Given the description of an element on the screen output the (x, y) to click on. 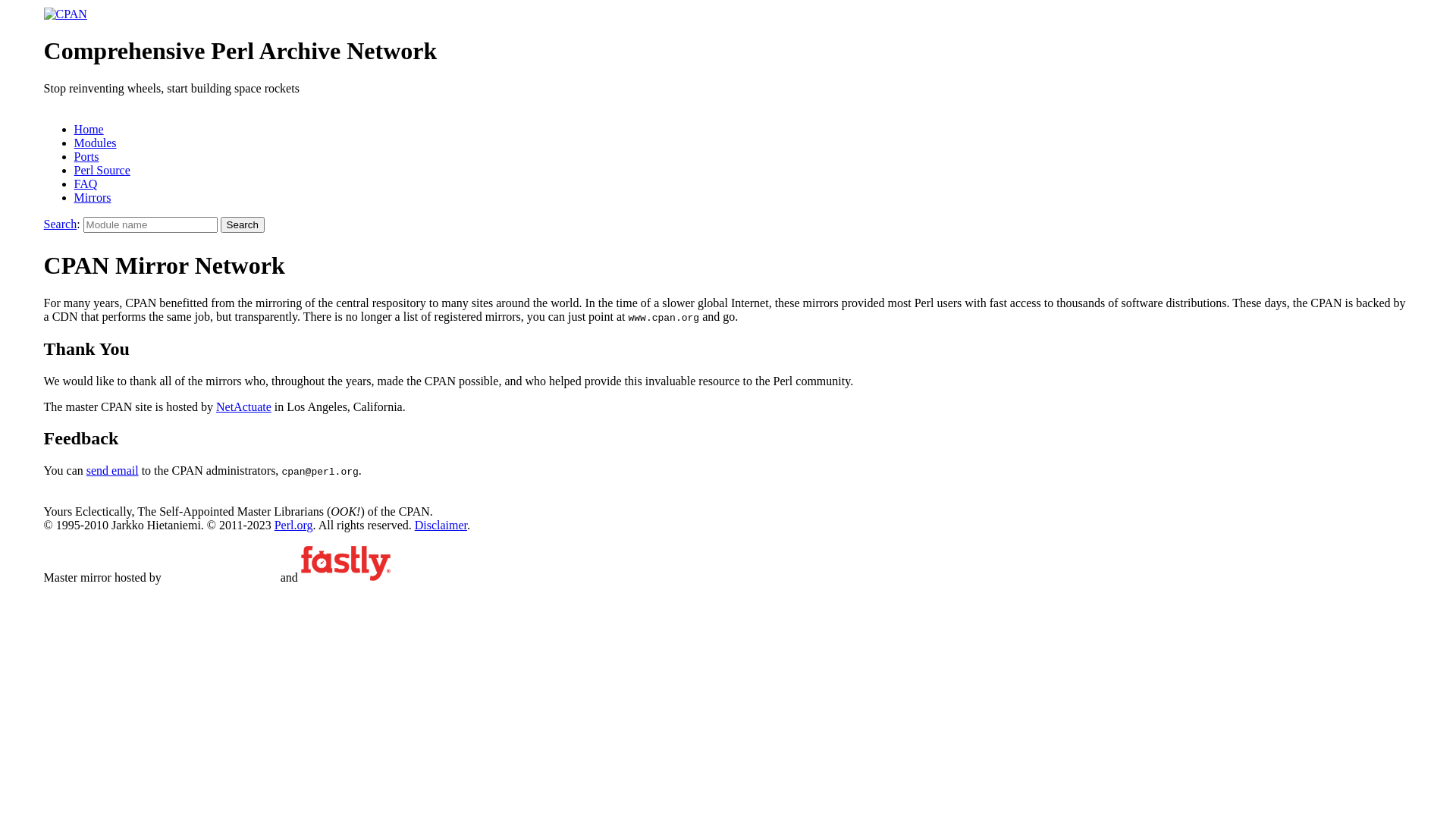
FAQ Element type: text (85, 183)
NetActuate Element type: text (243, 406)
Perl Source Element type: text (102, 169)
Search Element type: text (242, 224)
send email Element type: text (112, 470)
Modules Element type: text (95, 142)
Ports Element type: text (86, 156)
Disclaimer Element type: text (440, 524)
Search Element type: text (60, 223)
Perl.org Element type: text (293, 524)
Home Element type: text (88, 128)
Mirrors Element type: text (92, 197)
